Given the description of an element on the screen output the (x, y) to click on. 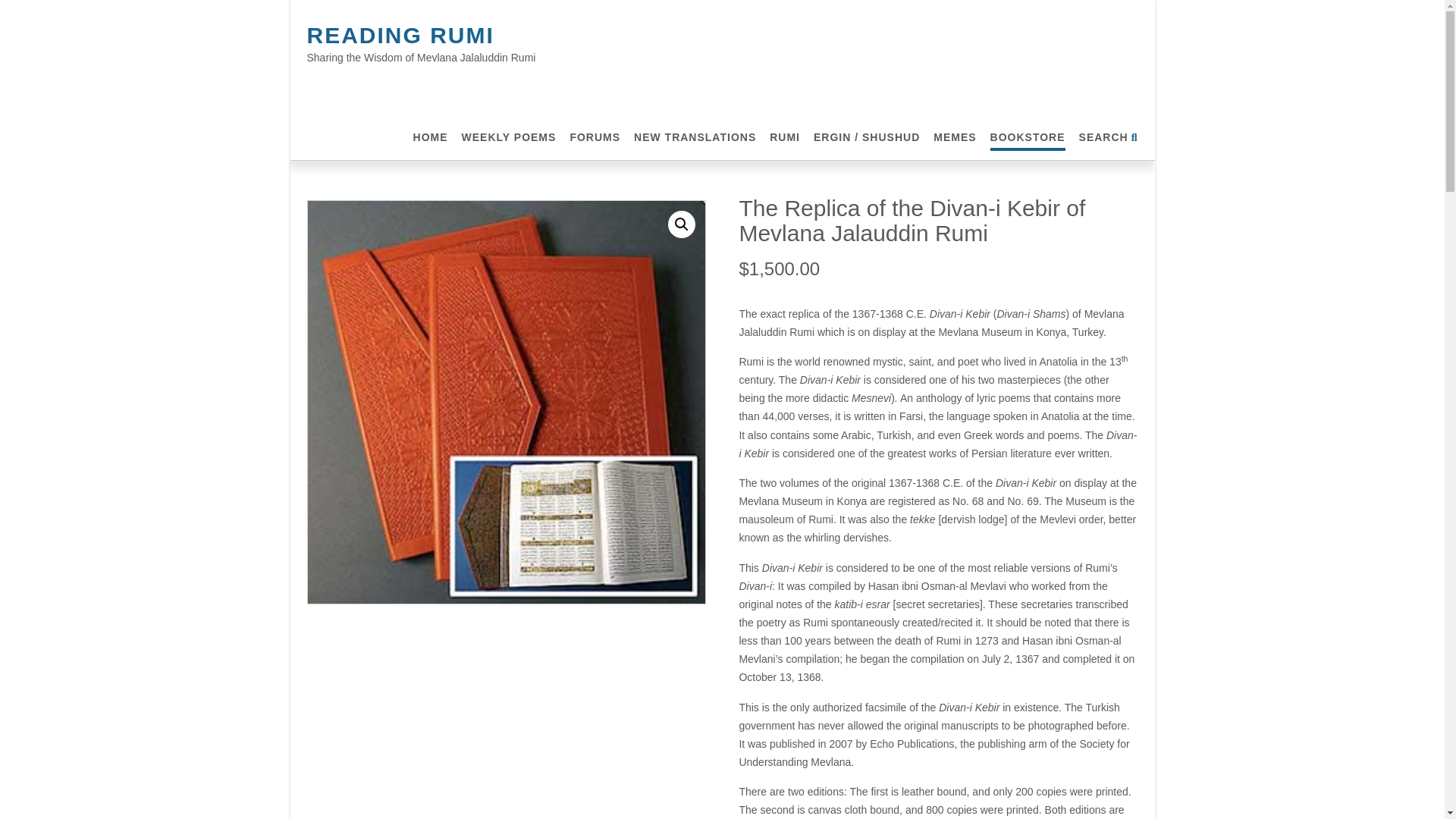
FORUMS (594, 137)
MEMES (954, 137)
RUMI (784, 137)
SEARCH (1108, 137)
HOME (430, 137)
WEEKLY POEMS (508, 137)
READING RUMI (399, 34)
NEW TRANSLATIONS (694, 137)
BOOKSTORE (1027, 137)
